Given the description of an element on the screen output the (x, y) to click on. 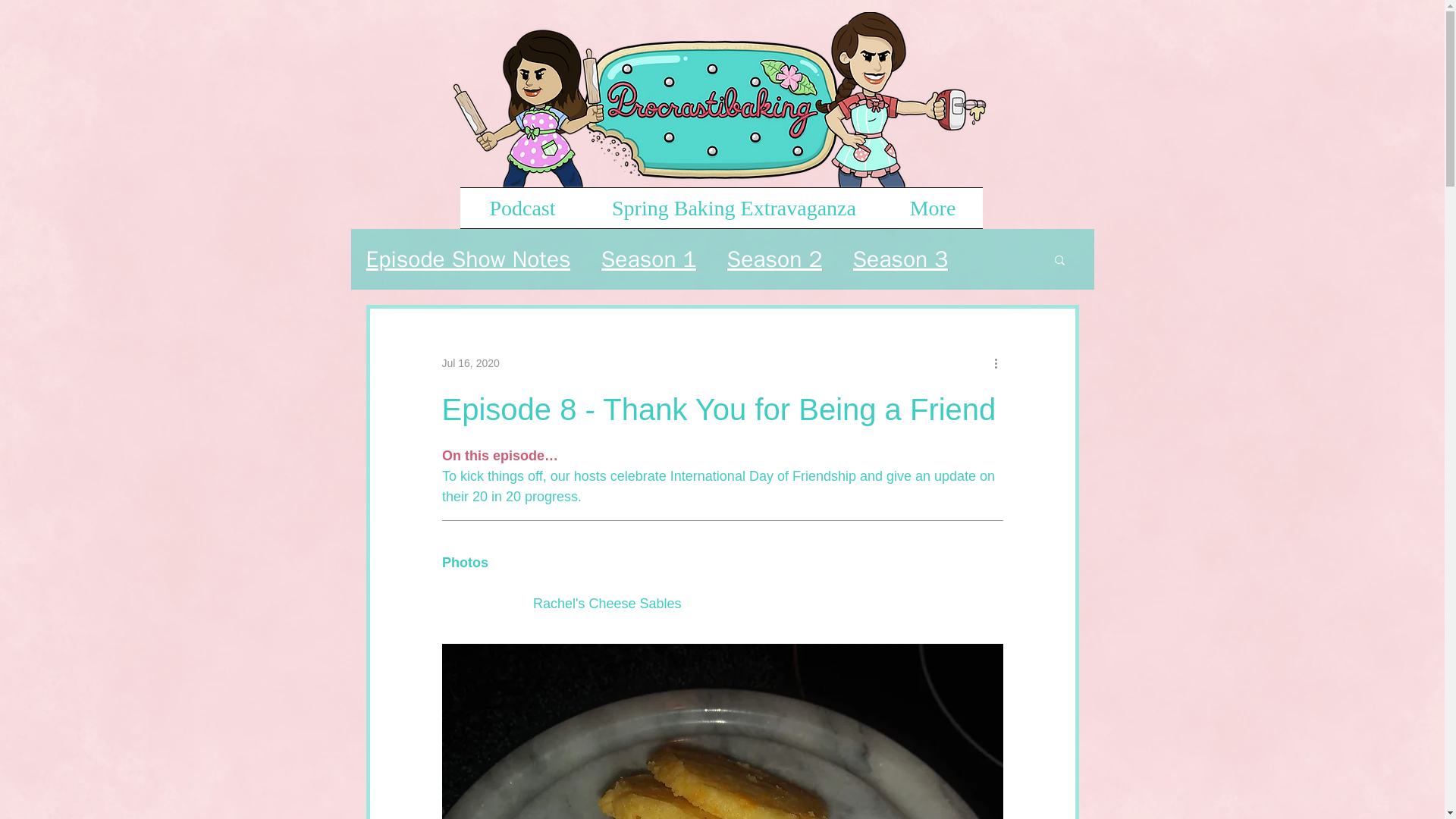
Season 2 (774, 259)
Spring Baking Extravaganza (734, 208)
Jul 16, 2020 (470, 362)
Season 3 (899, 259)
Podcast (522, 208)
Season 1 (649, 259)
Episode Show Notes (467, 259)
